Given the description of an element on the screen output the (x, y) to click on. 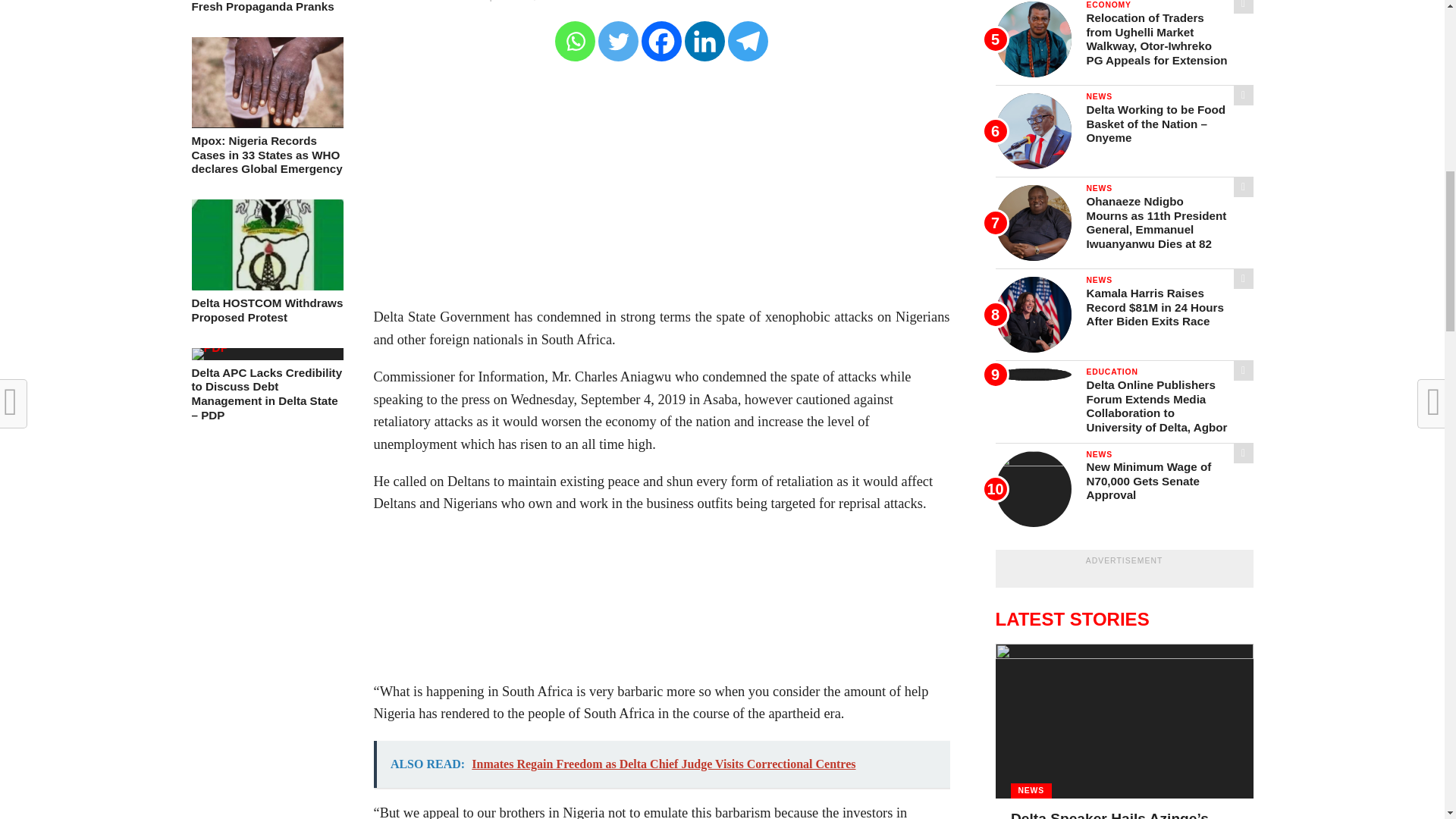
Twitter (618, 41)
Telegram (748, 41)
Delta HOSTCOM Withdraws Proposed Protest (266, 310)
Linkedin (704, 41)
Facebook (661, 41)
Delta HOSTCOM Withdraws Proposed Protest (266, 286)
Whatsapp (574, 41)
